Given the description of an element on the screen output the (x, y) to click on. 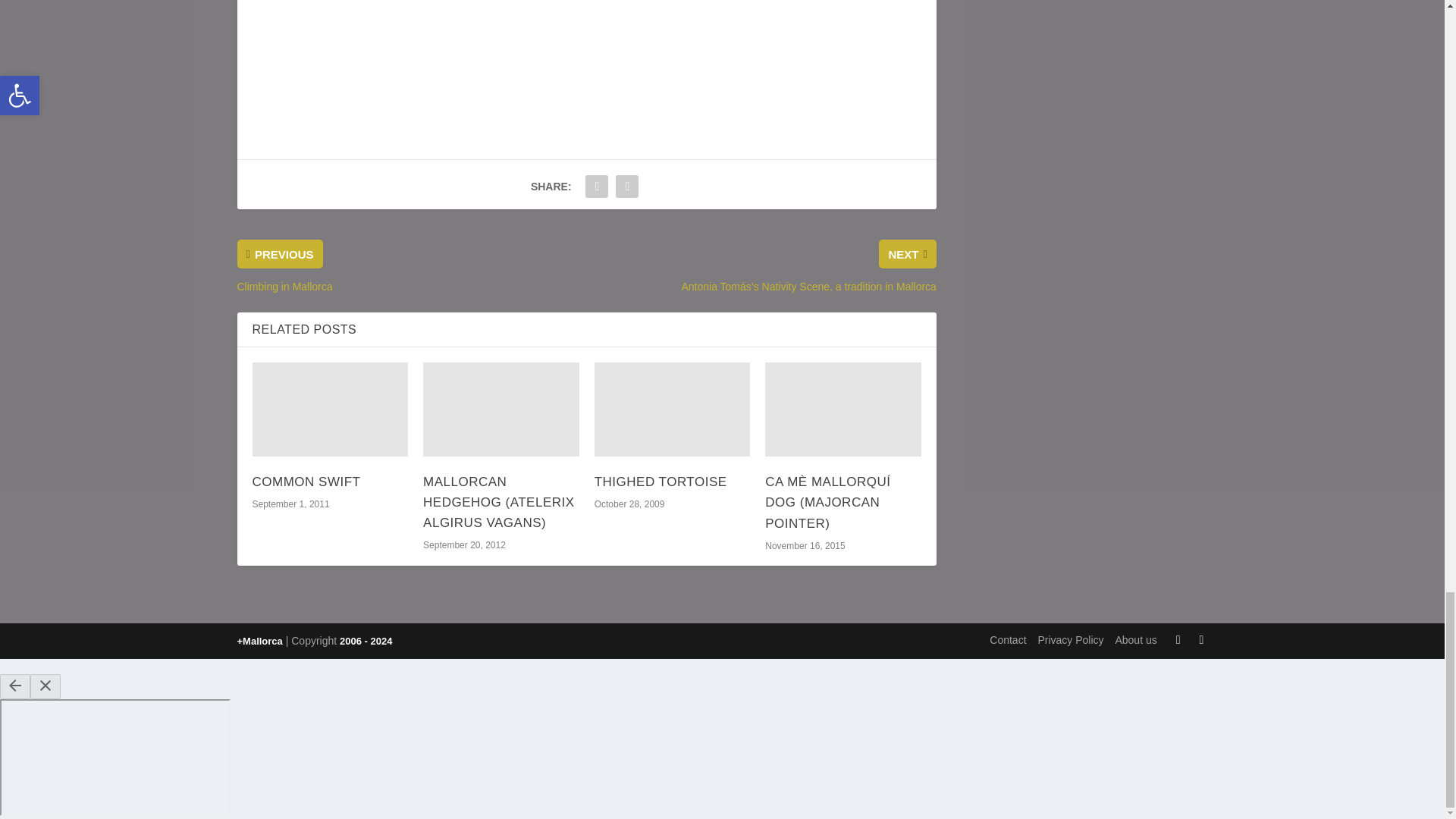
COMMON SWIFT (305, 481)
